Given the description of an element on the screen output the (x, y) to click on. 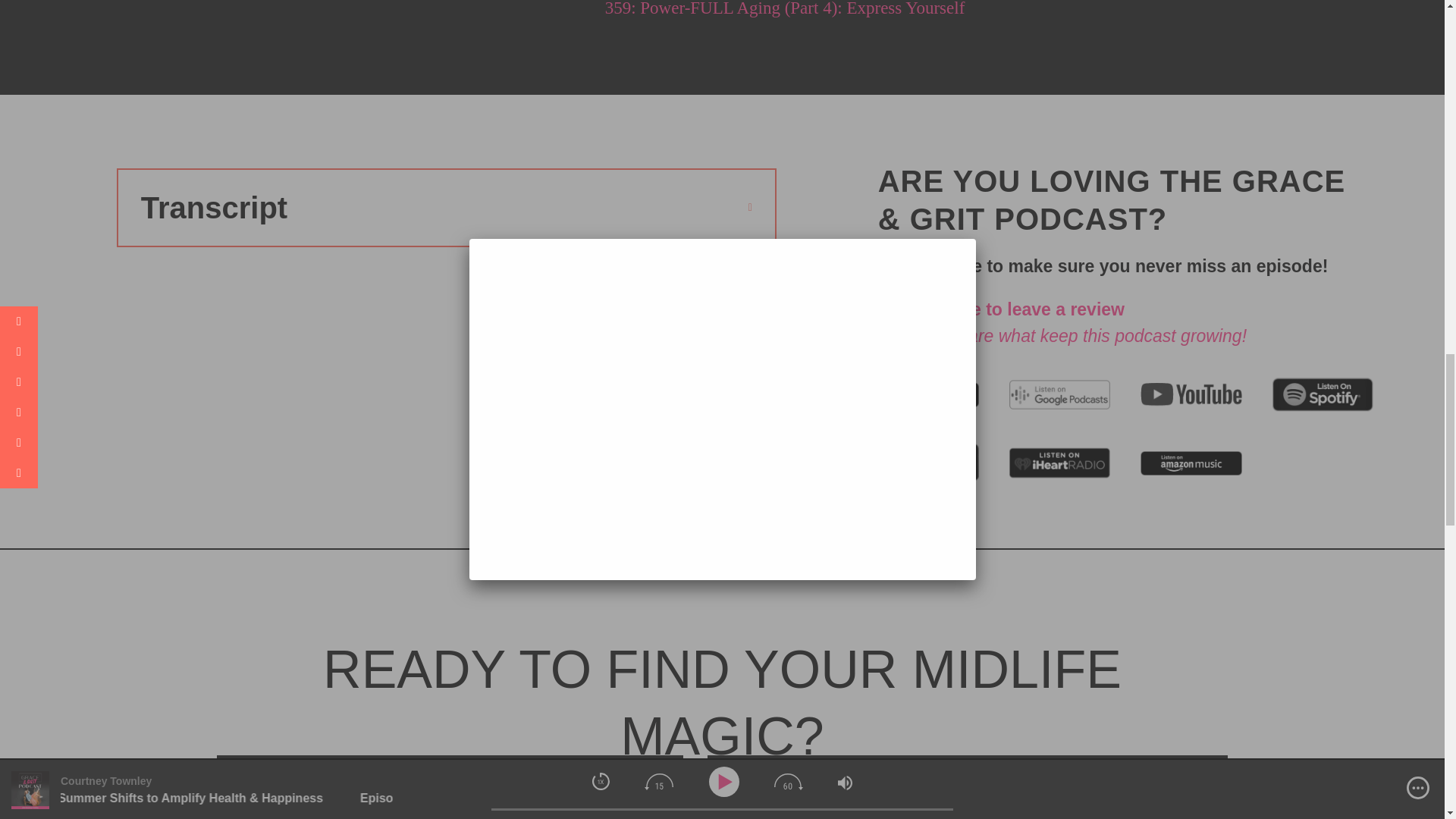
Power Years Private Coaching (455, 811)
Midlife Magic Quickstart Guide (955, 814)
